Given the description of an element on the screen output the (x, y) to click on. 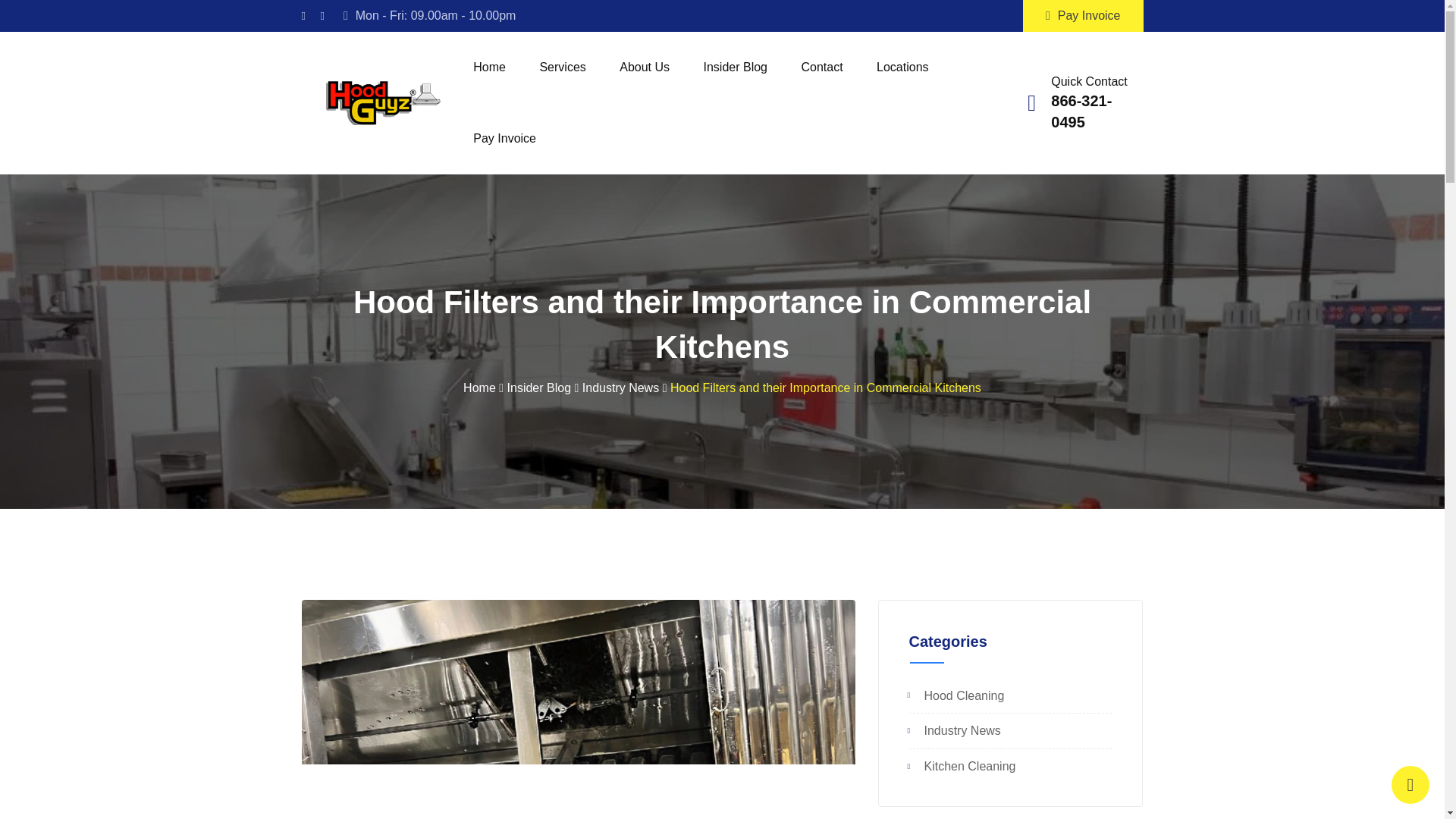
Pay Invoice (504, 138)
About Us (644, 67)
Contact (821, 67)
Insider Blog (735, 67)
Services (561, 67)
Go to the Industry News category archives. (620, 387)
Pay Invoice (1082, 15)
Go to Insider Blog. (539, 387)
866-321-0495 (1081, 111)
Go to Hood Guyz. (479, 387)
